Given the description of an element on the screen output the (x, y) to click on. 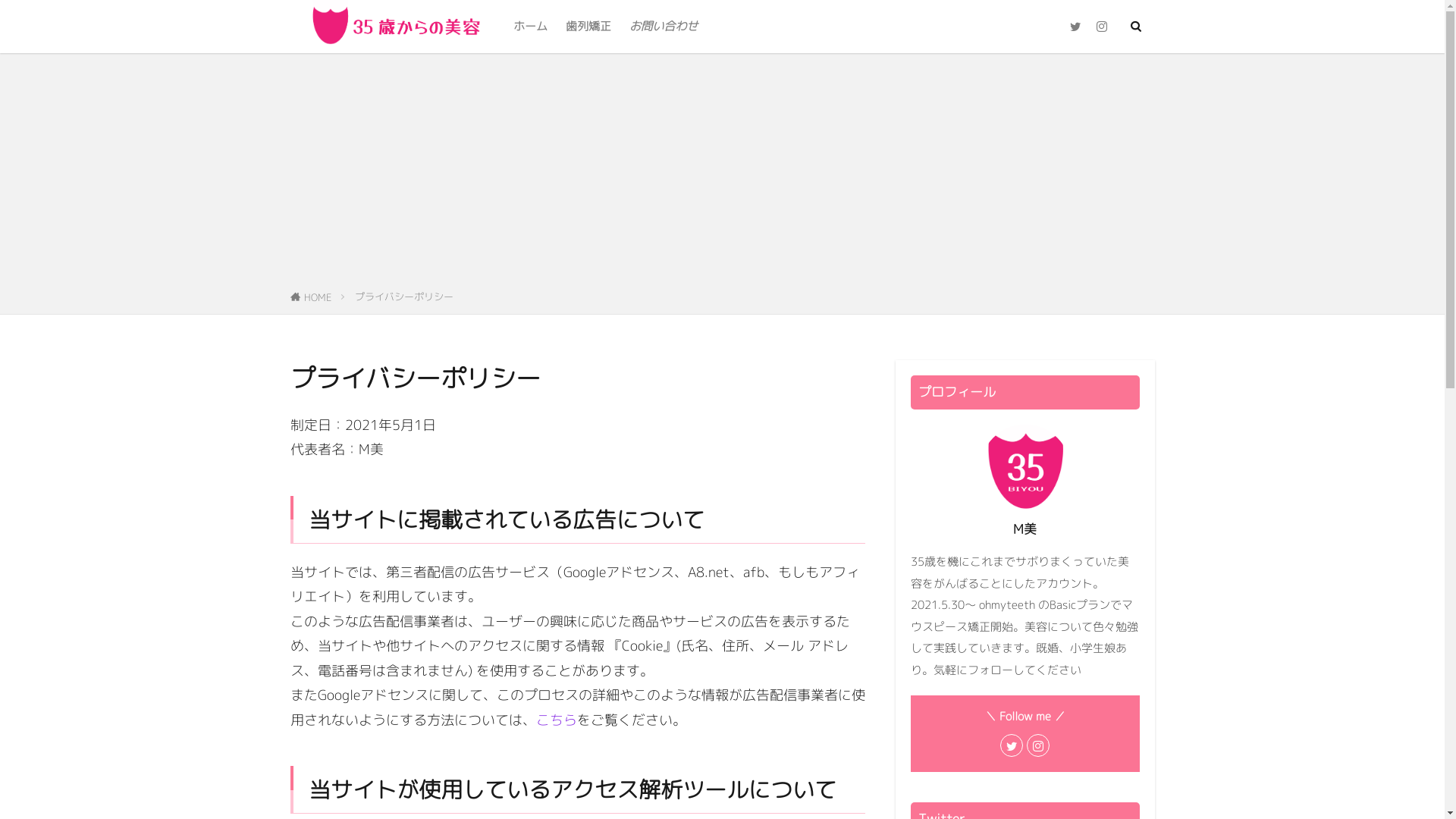
HOME Element type: text (317, 297)
search Element type: text (959, 27)
Advertisement Element type: hover (721, 174)
